Given the description of an element on the screen output the (x, y) to click on. 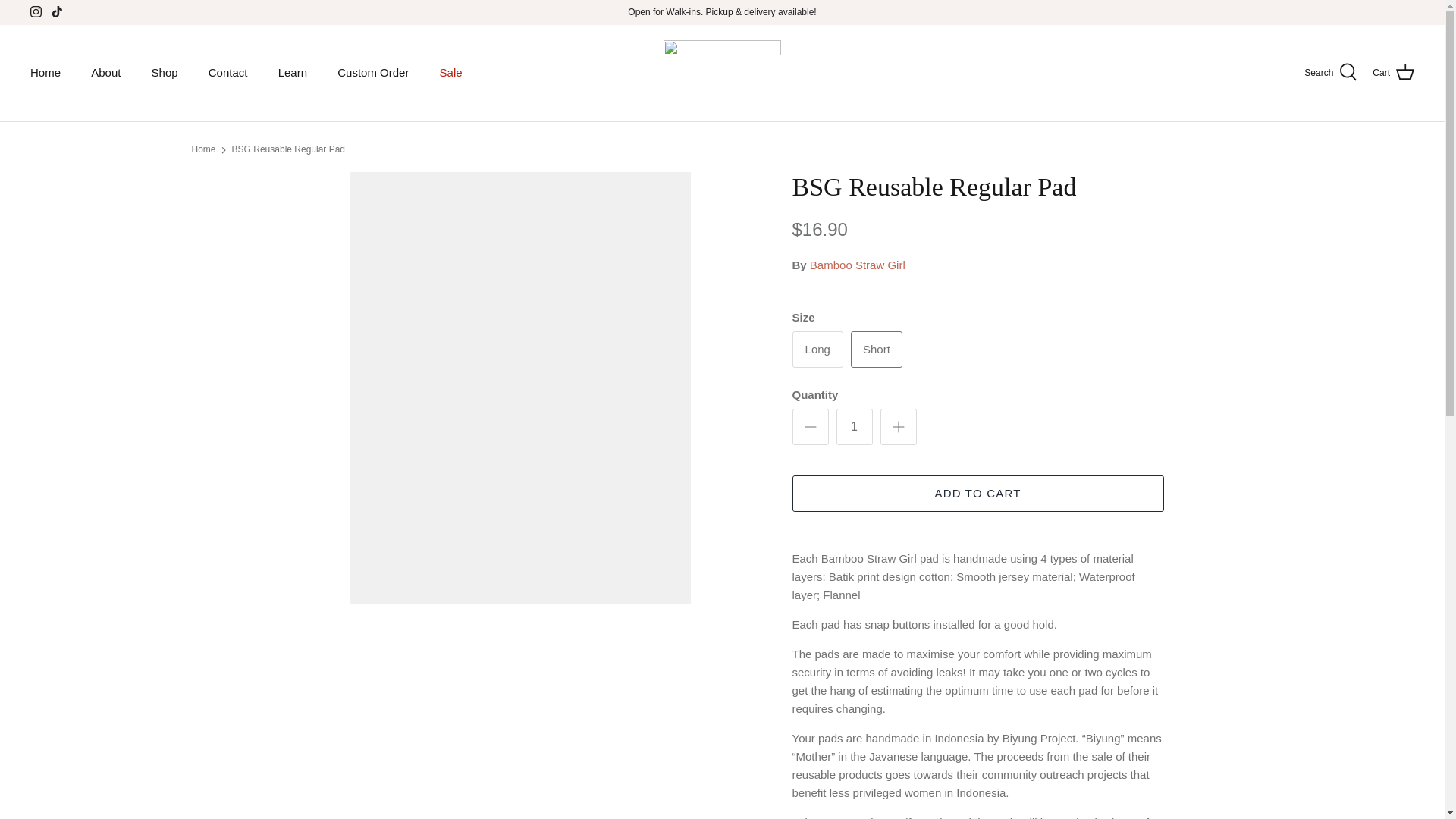
Cart (1393, 72)
Home (45, 72)
Learn (292, 72)
Search (1330, 72)
Minus (809, 426)
Instagram (36, 11)
Contact (228, 72)
Instagram (36, 11)
Sale (451, 72)
Plus (897, 426)
Kaimana (721, 73)
Shop (165, 72)
About (105, 72)
Custom Order (372, 72)
1 (853, 426)
